Given the description of an element on the screen output the (x, y) to click on. 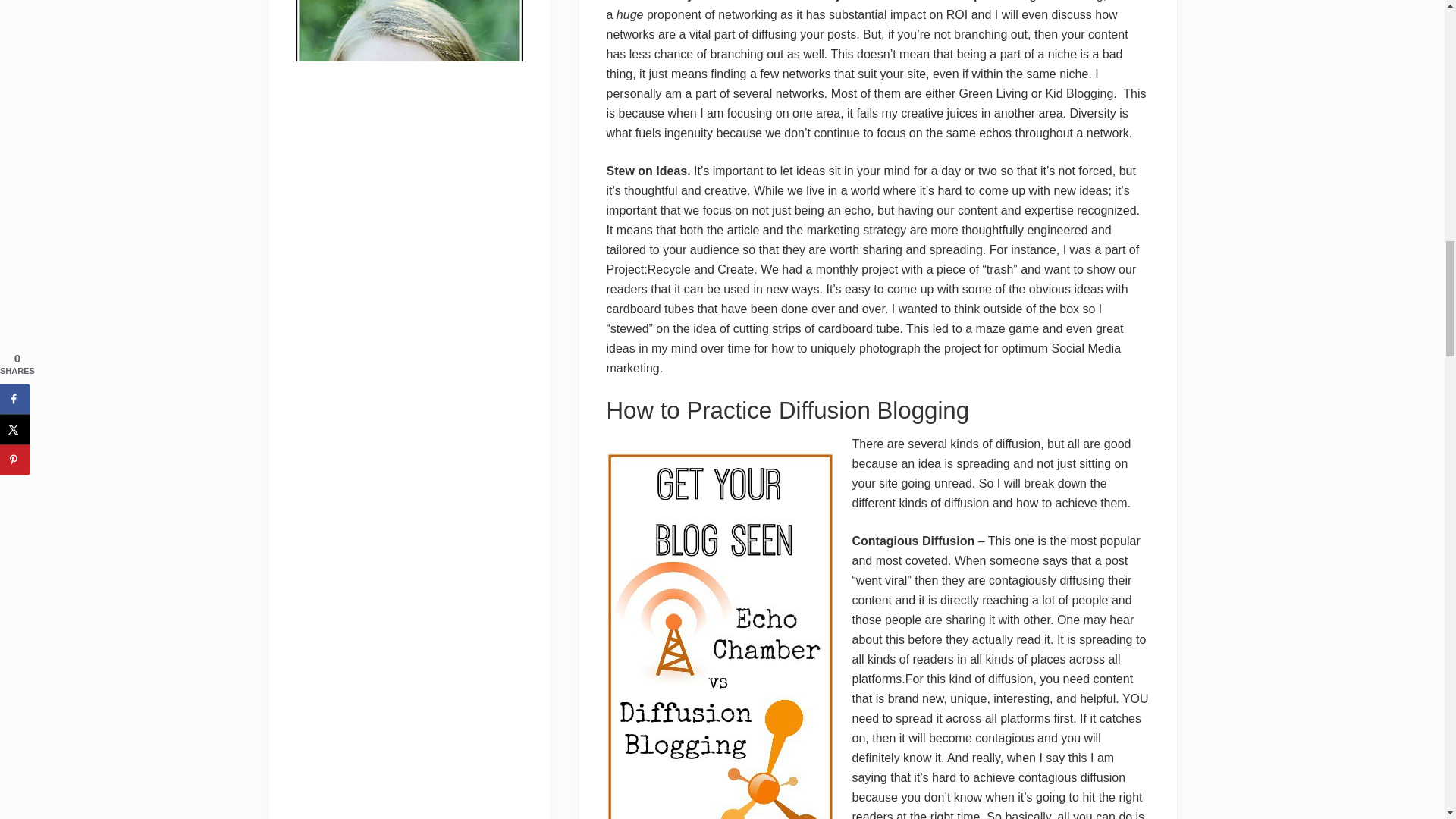
About Kara (408, 114)
